Given the description of an element on the screen output the (x, y) to click on. 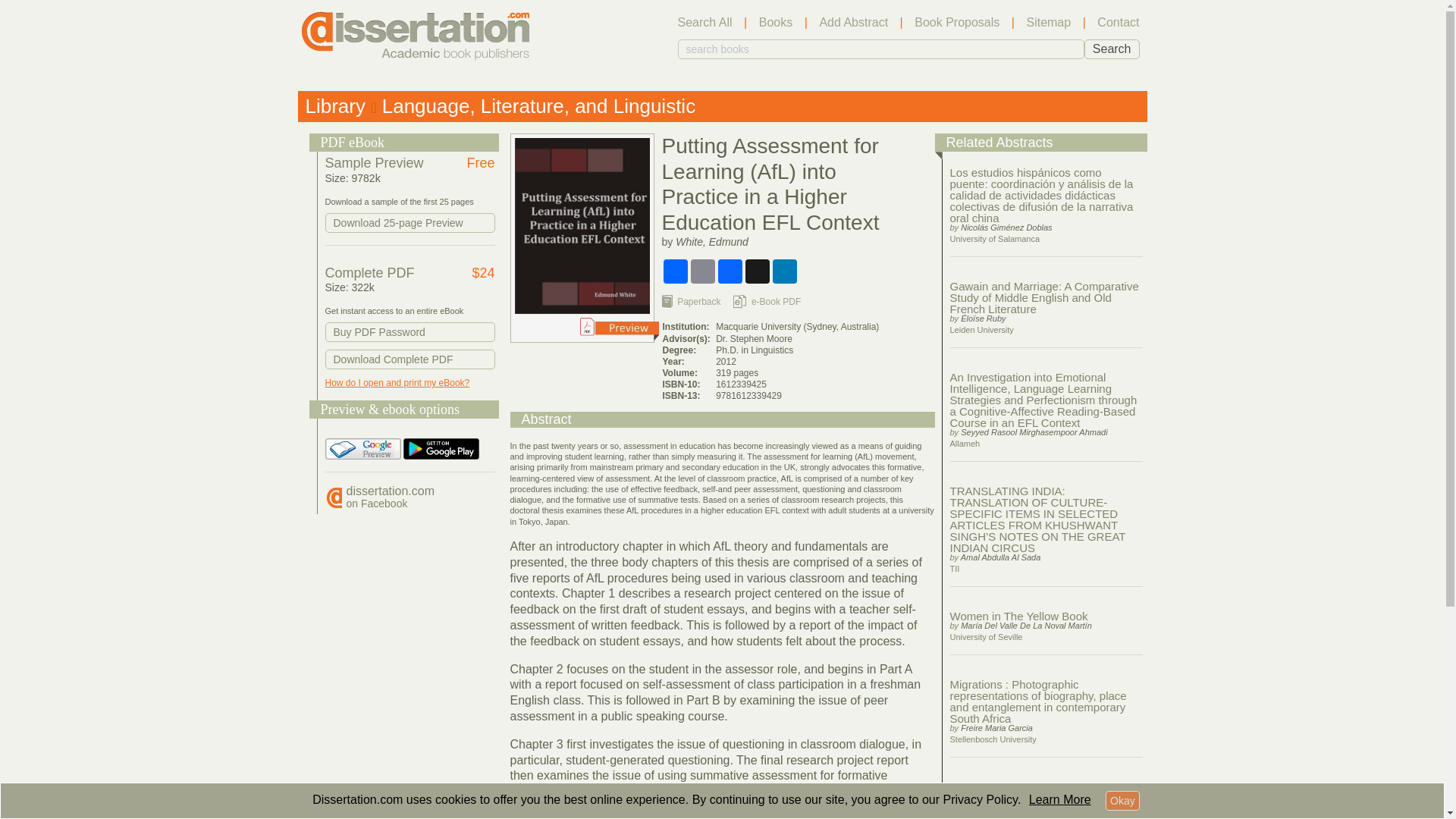
How do I open and print my eBook? (396, 382)
Search (1112, 48)
Add Abstract (389, 496)
Learn More (853, 22)
Search (1059, 799)
Download Complete PDF (1112, 48)
Sitemap (409, 359)
Book Proposals (1048, 22)
Books (956, 22)
